Given the description of an element on the screen output the (x, y) to click on. 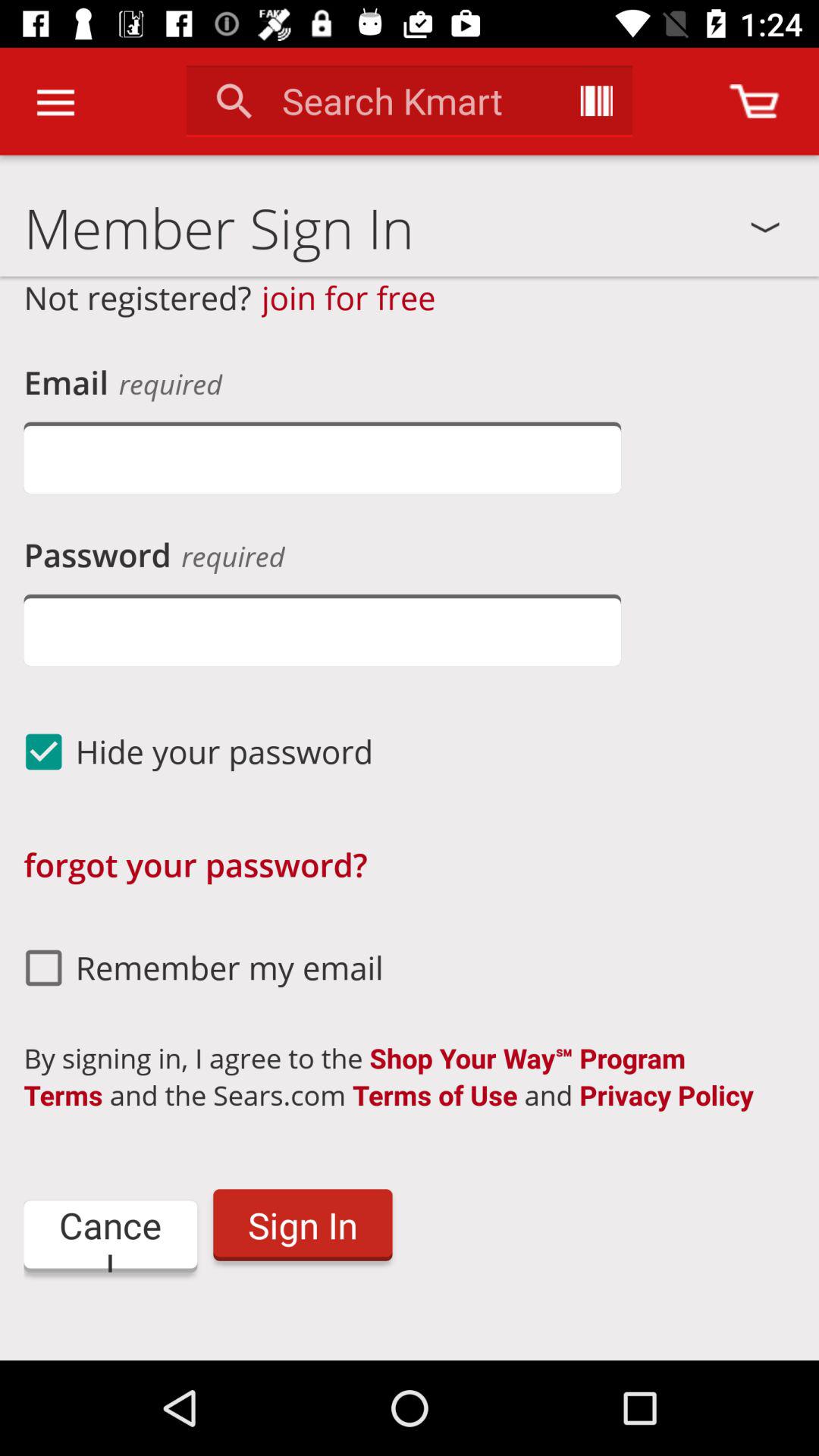
open cart (754, 101)
